Given the description of an element on the screen output the (x, y) to click on. 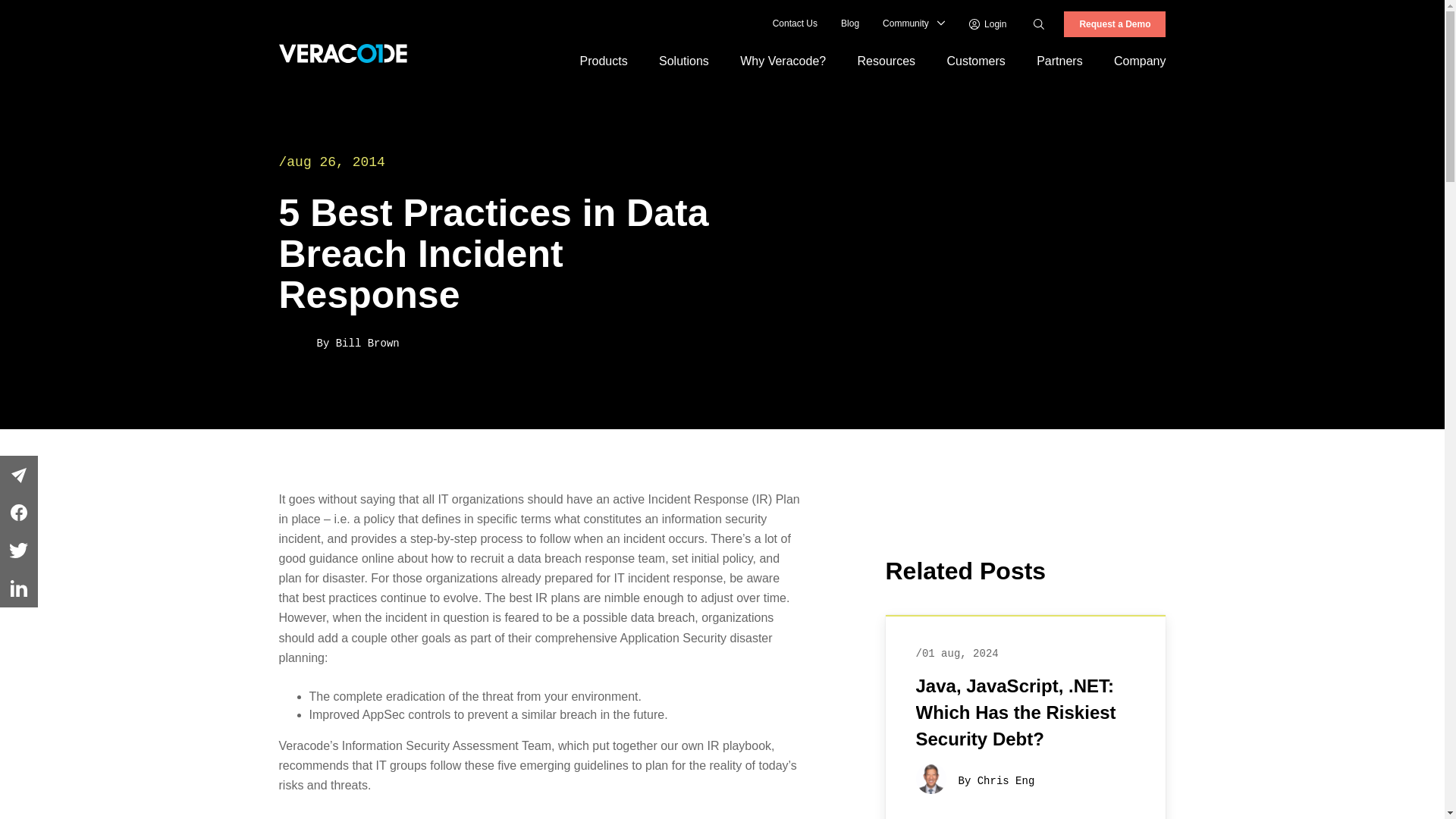
Request a Demo (1115, 23)
Login (988, 23)
Enter the terms you wish to search for. (1055, 24)
Solutions (683, 61)
Products (603, 61)
Community (905, 23)
Why Veracode? (783, 61)
Contact Us (794, 23)
Veracode (343, 53)
